Given the description of an element on the screen output the (x, y) to click on. 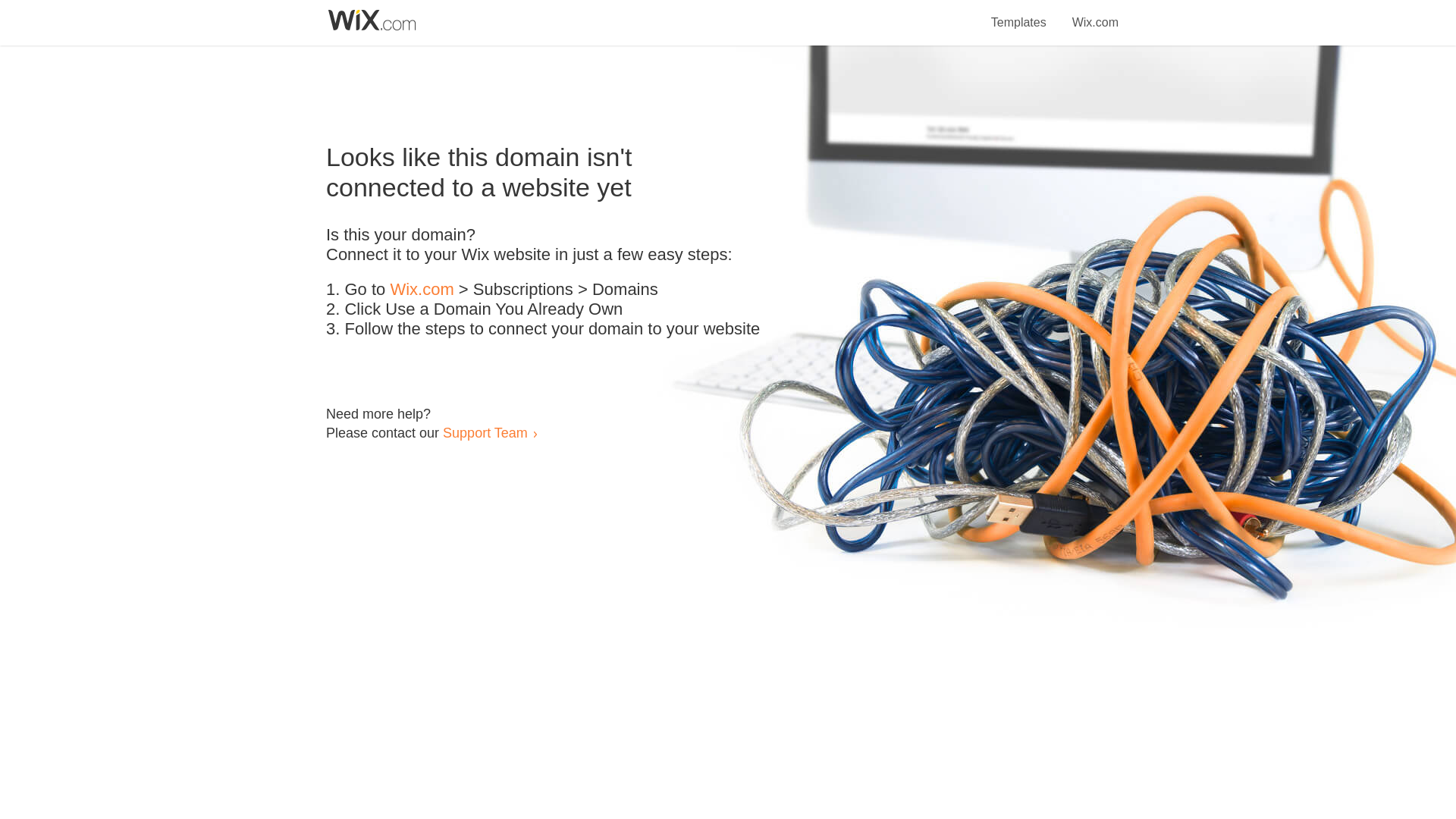
Wix.com (1095, 14)
Wix.com (421, 289)
Support Team (484, 432)
Templates (1018, 14)
